Given the description of an element on the screen output the (x, y) to click on. 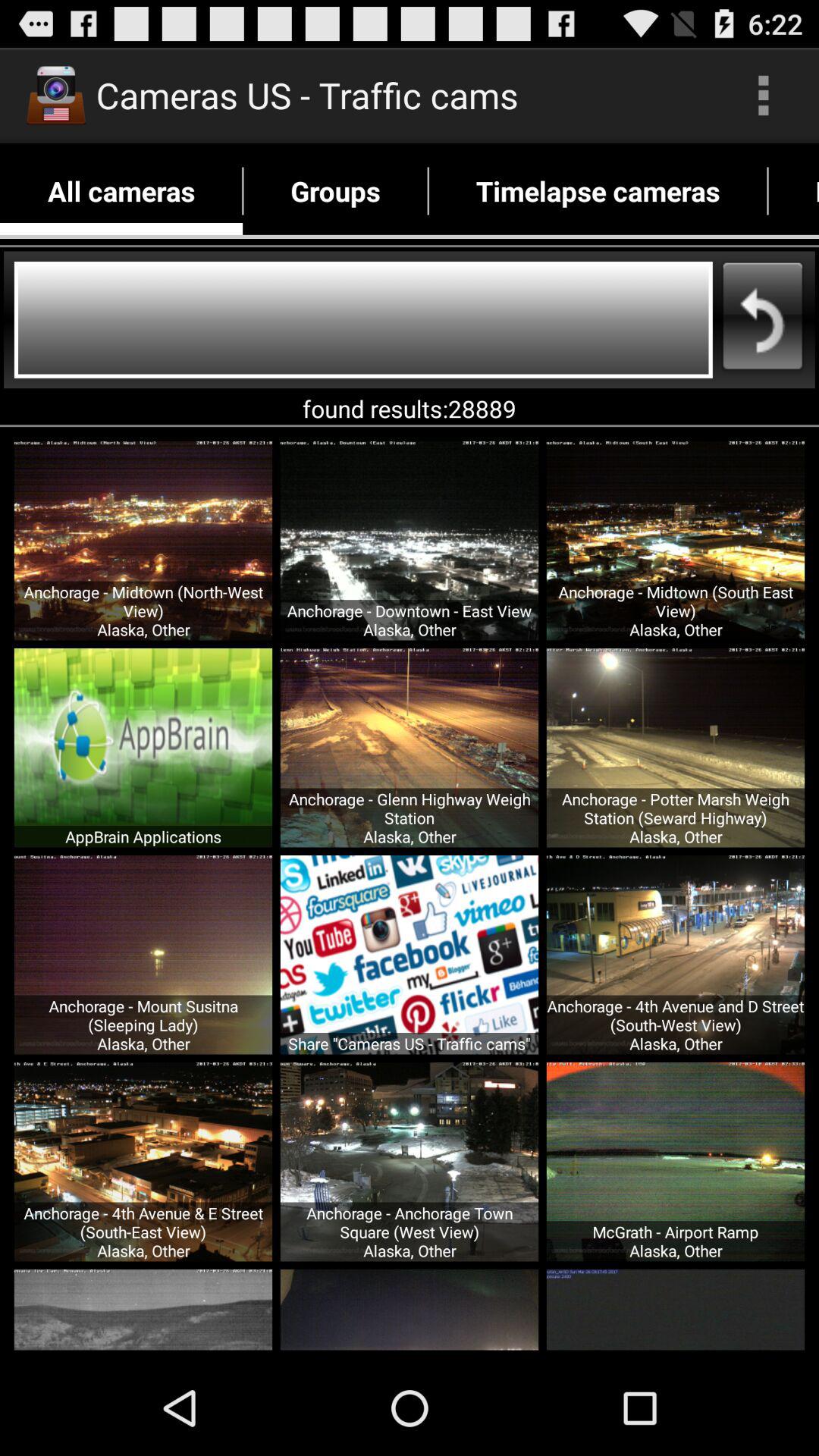
tap the item next to timelapse cameras icon (335, 190)
